Given the description of an element on the screen output the (x, y) to click on. 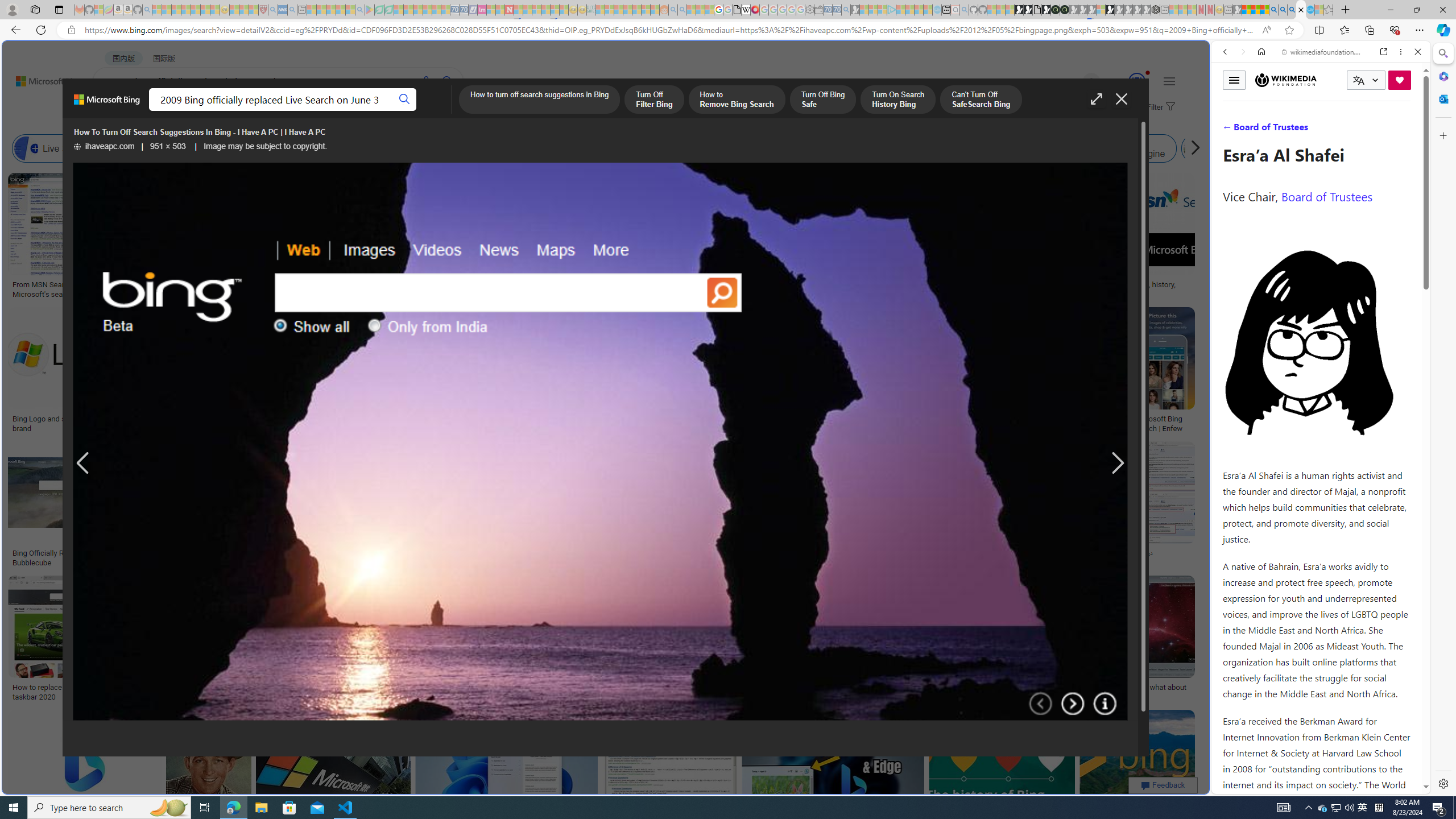
microsoft bing (991, 419)
github - Search - Sleeping (964, 9)
Animation (1147, 72)
Bing Logo, symbol, meaning, history, PNG, brandSave (1123, 237)
Bing: rebranding search: idsgn (a design blog) (699, 289)
Turn Off Bing Safe (822, 100)
Turn On Search History Bing (898, 100)
